Given the description of an element on the screen output the (x, y) to click on. 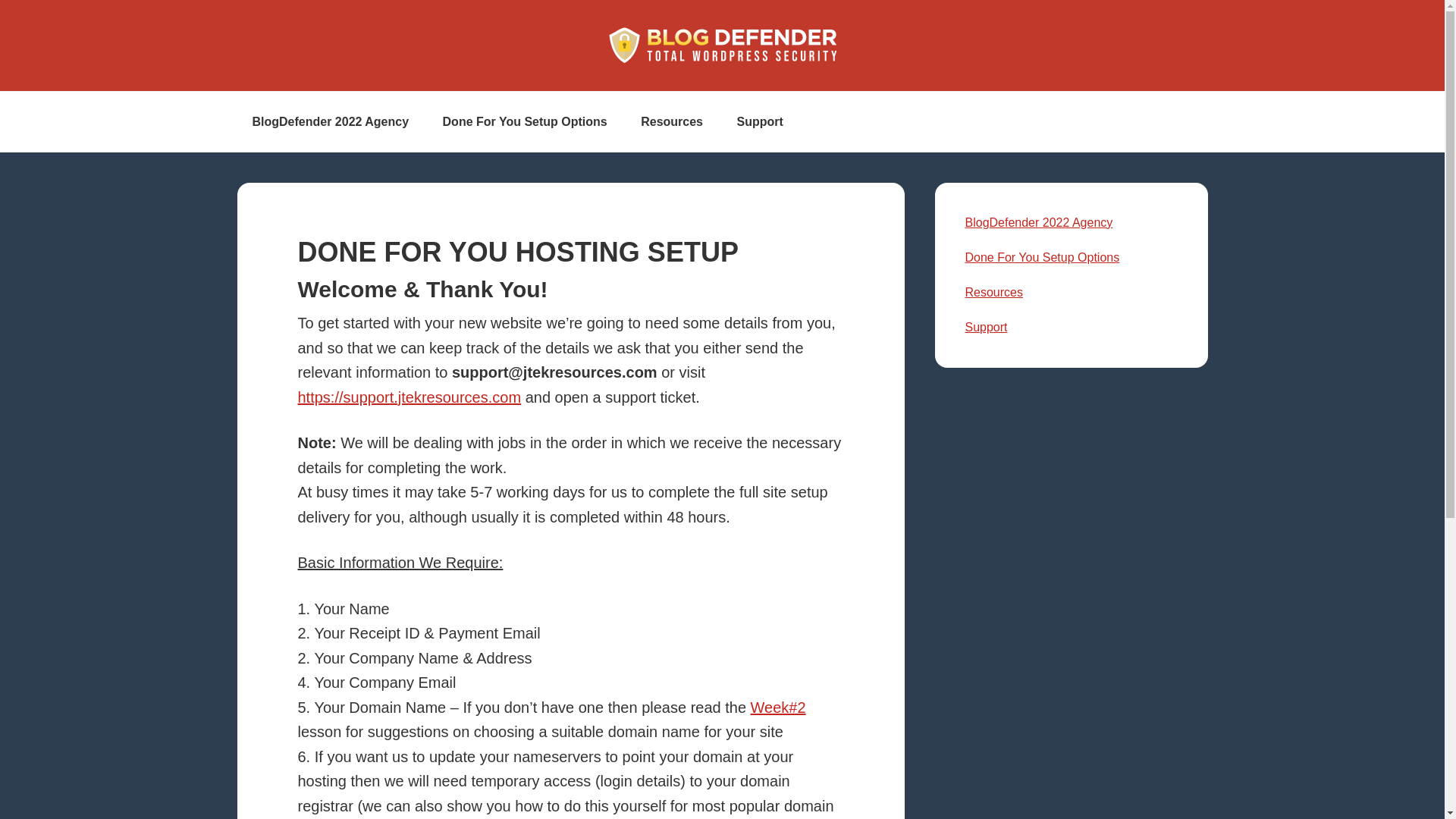
Support (758, 121)
BlogDefender 2022 Agency (1037, 222)
Blog Defender (721, 45)
Done For You Setup Options (1041, 256)
Resources (671, 121)
BlogDefender 2022 Agency (329, 121)
Support (985, 327)
Resources (992, 291)
Done For You Setup Options (525, 121)
